Given the description of an element on the screen output the (x, y) to click on. 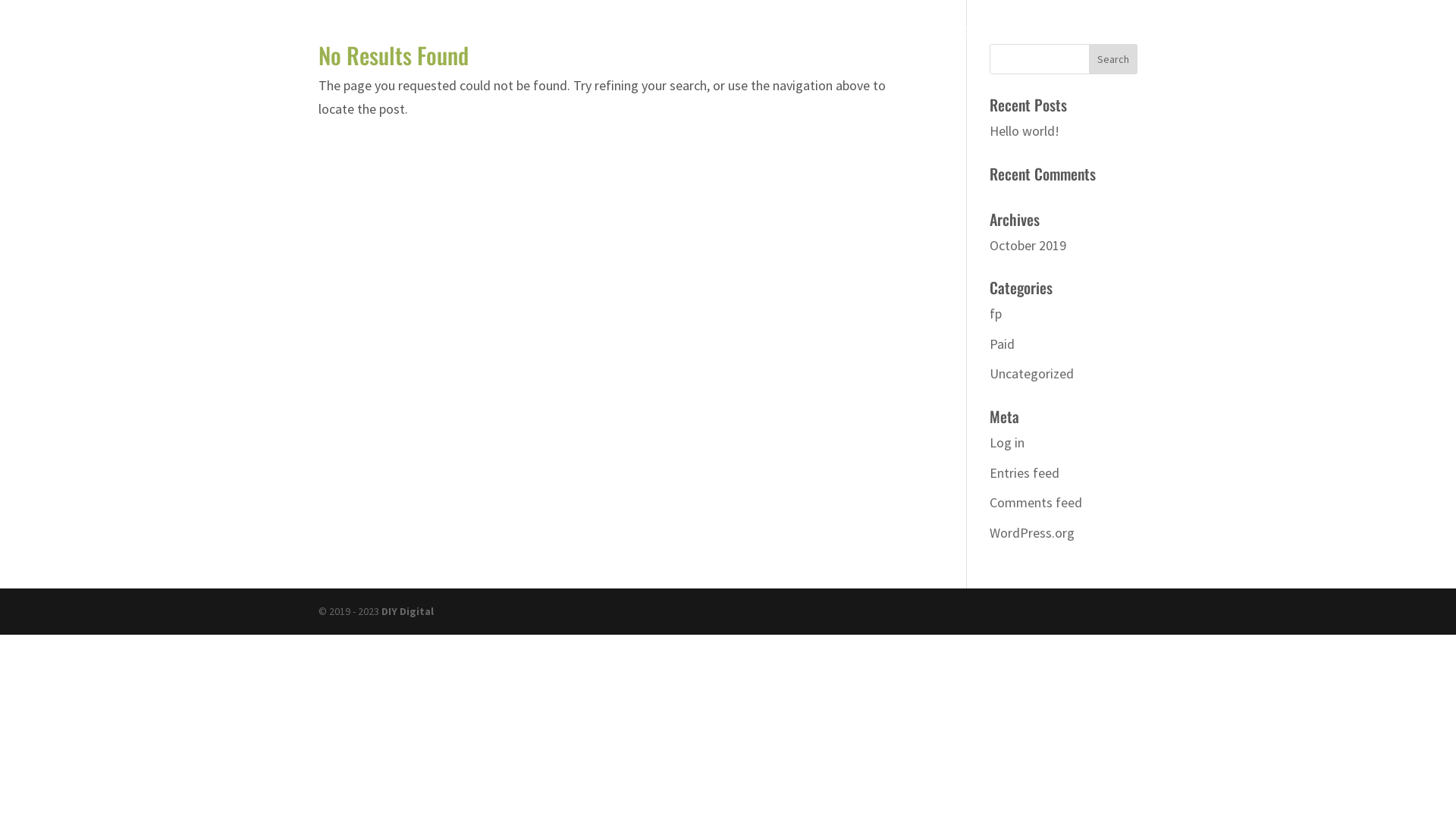
LOGIN Element type: text (1378, 42)
October 2019 Element type: text (1027, 245)
BOOK Element type: text (1092, 42)
Search Element type: text (1112, 58)
CONTACT Element type: text (1205, 42)
Entries feed Element type: text (1024, 472)
SHOP Element type: text (1044, 42)
Comments feed Element type: text (1035, 502)
fp Element type: text (995, 313)
Hello world! Element type: text (1024, 130)
Log in Element type: text (1006, 442)
DIY Digital Element type: text (407, 611)
Paid Element type: text (1001, 343)
COURSES Element type: text (988, 42)
DIY DIGITAL HOME Element type: text (1296, 42)
ABOUT Element type: text (1144, 42)
WordPress.org Element type: text (1031, 532)
Uncategorized Element type: text (1031, 373)
